Given the description of an element on the screen output the (x, y) to click on. 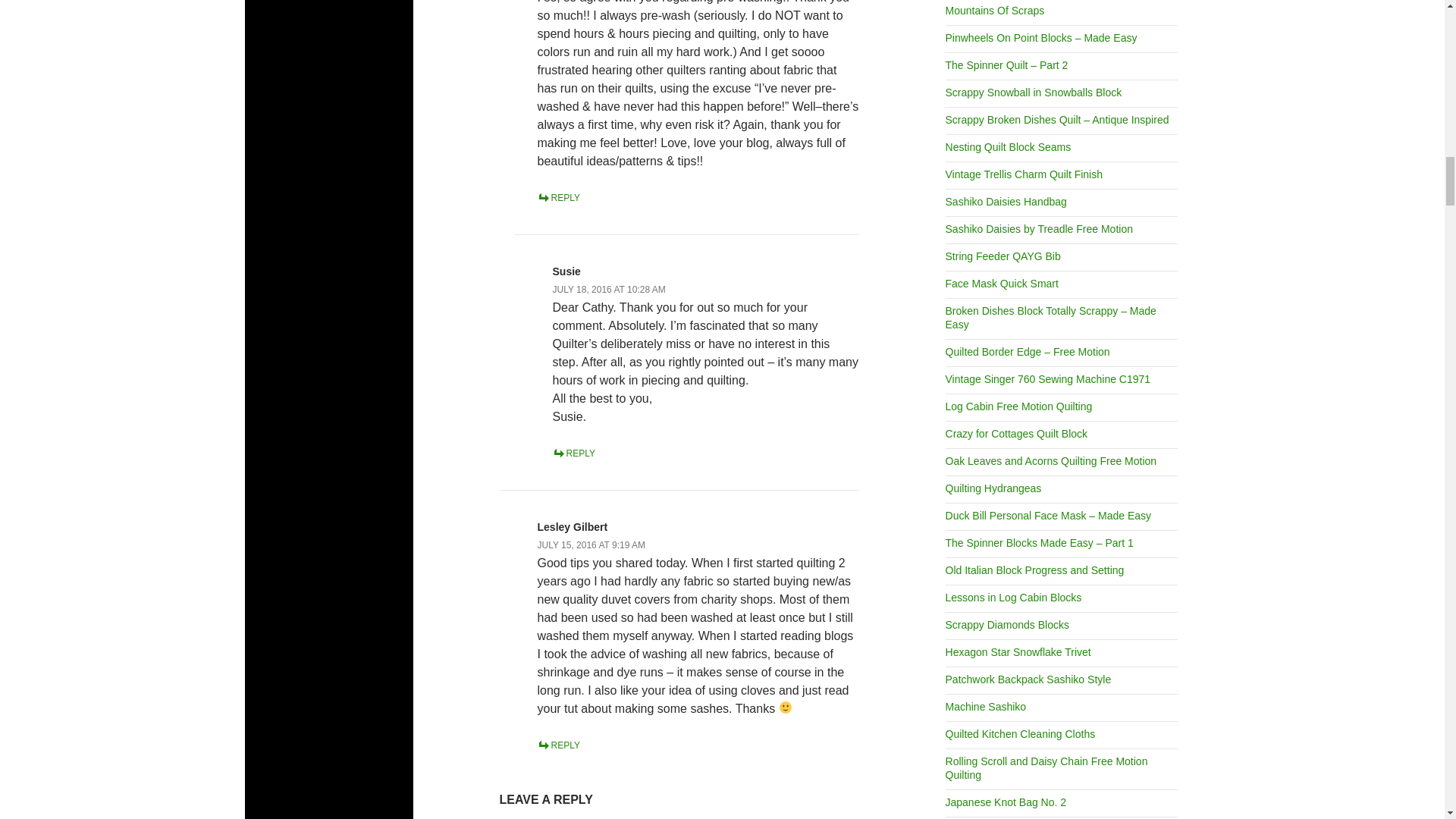
REPLY (574, 452)
JULY 15, 2016 AT 9:19 AM (591, 544)
REPLY (558, 745)
REPLY (558, 197)
JULY 18, 2016 AT 10:28 AM (609, 288)
